Given the description of an element on the screen output the (x, y) to click on. 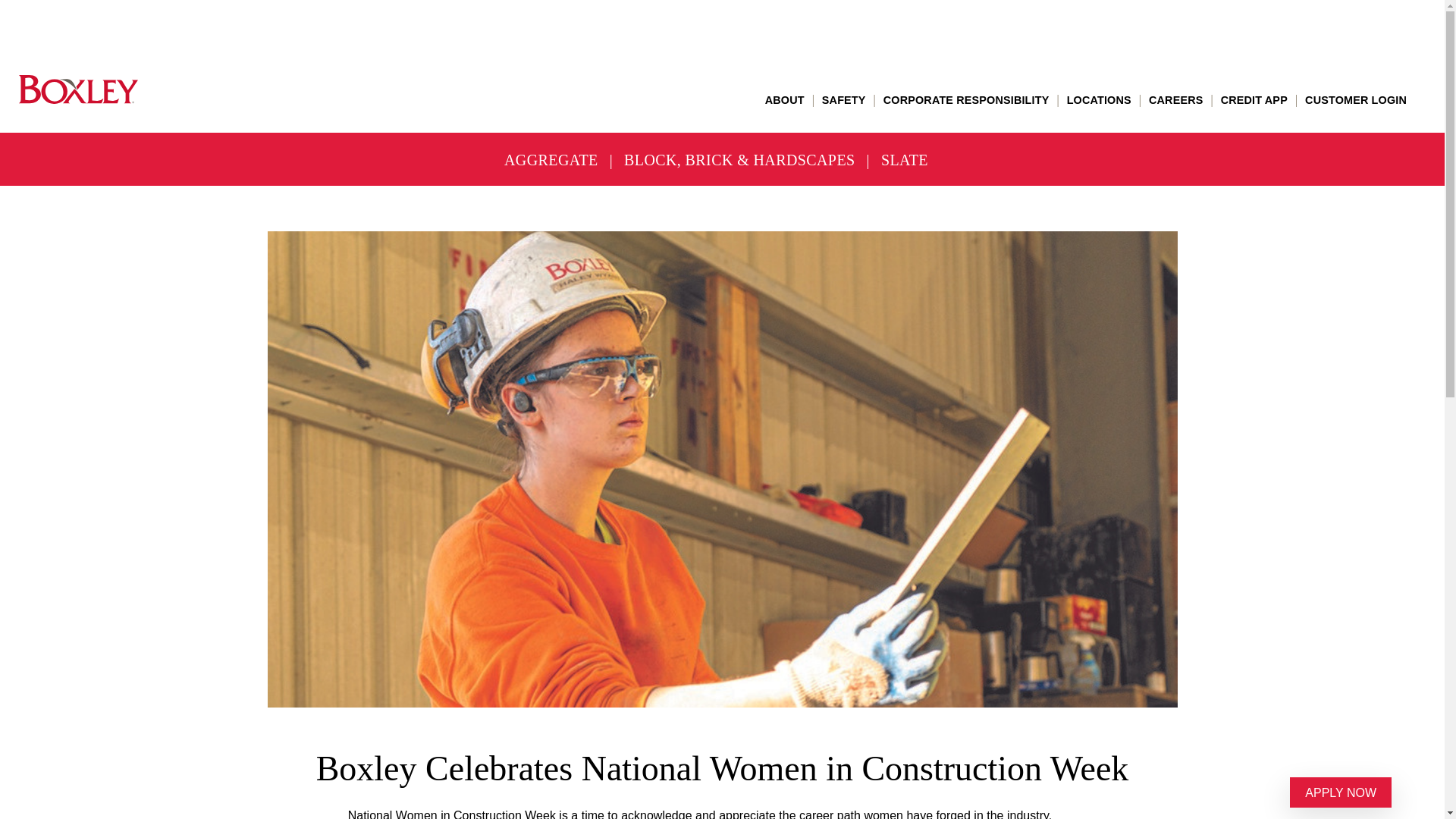
LOCATIONS (1099, 100)
AGGREGATE (550, 160)
CUSTOMER LOGIN (1355, 100)
SLATE (904, 160)
APPLY NOW (1340, 792)
ABOUT (785, 100)
SAFETY (844, 100)
CAREERS (1176, 100)
CREDIT APP (1254, 100)
CORPORATE RESPONSIBILITY (966, 100)
